Given the description of an element on the screen output the (x, y) to click on. 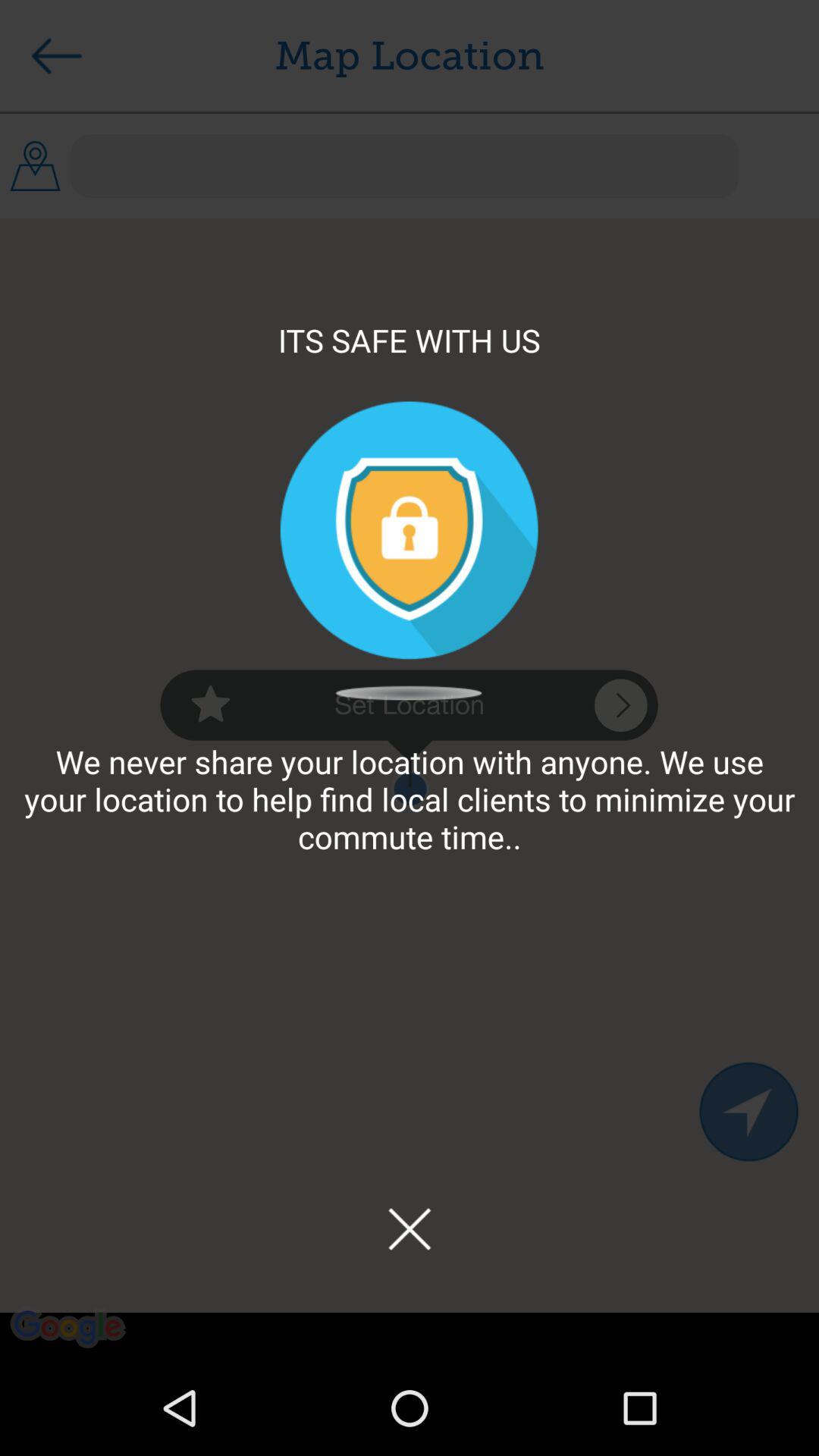
close pop up message (409, 1228)
